Given the description of an element on the screen output the (x, y) to click on. 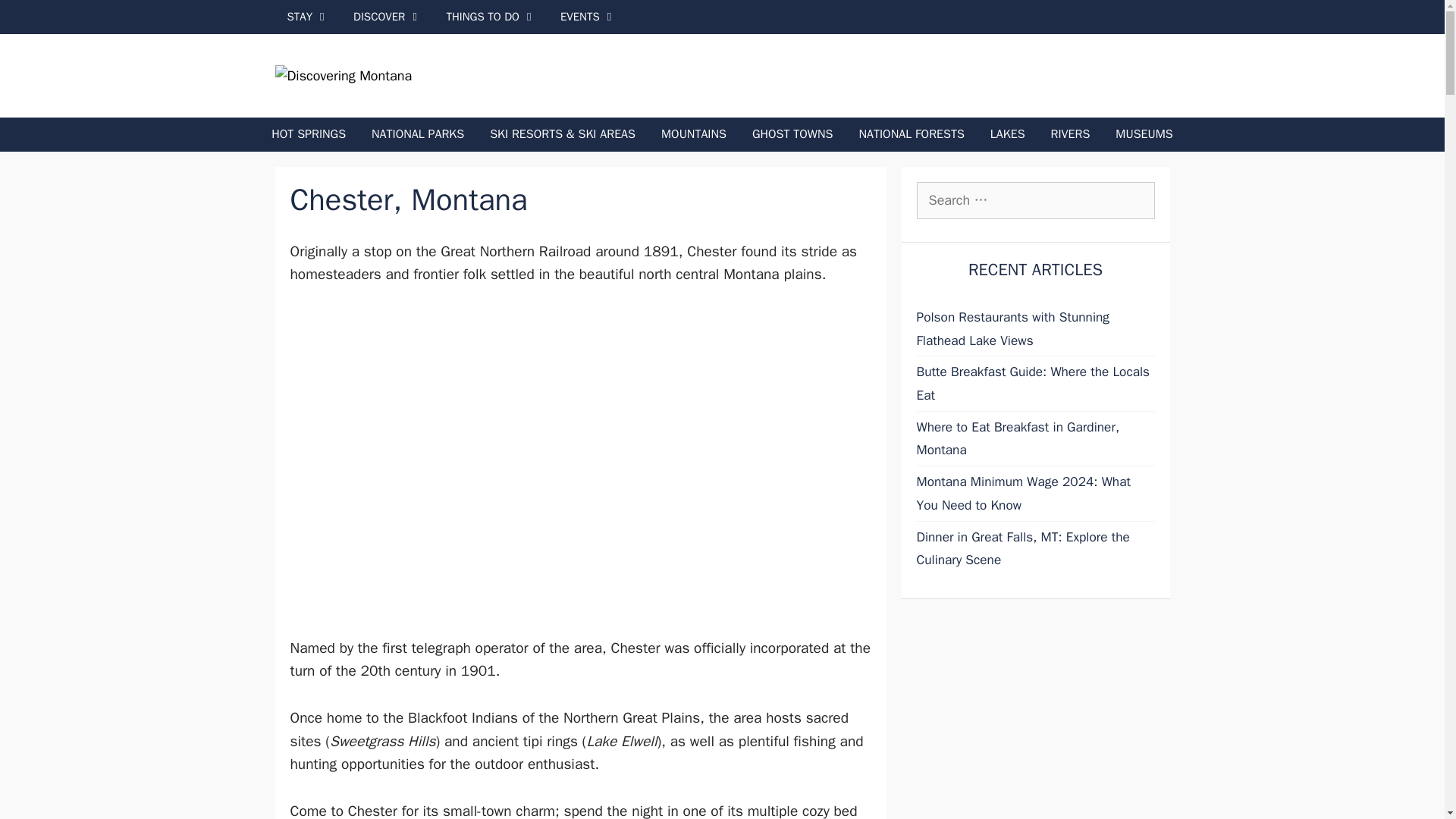
STAY (307, 17)
Search for: (1034, 200)
THINGS TO DO (490, 17)
DISCOVER (386, 17)
